Given the description of an element on the screen output the (x, y) to click on. 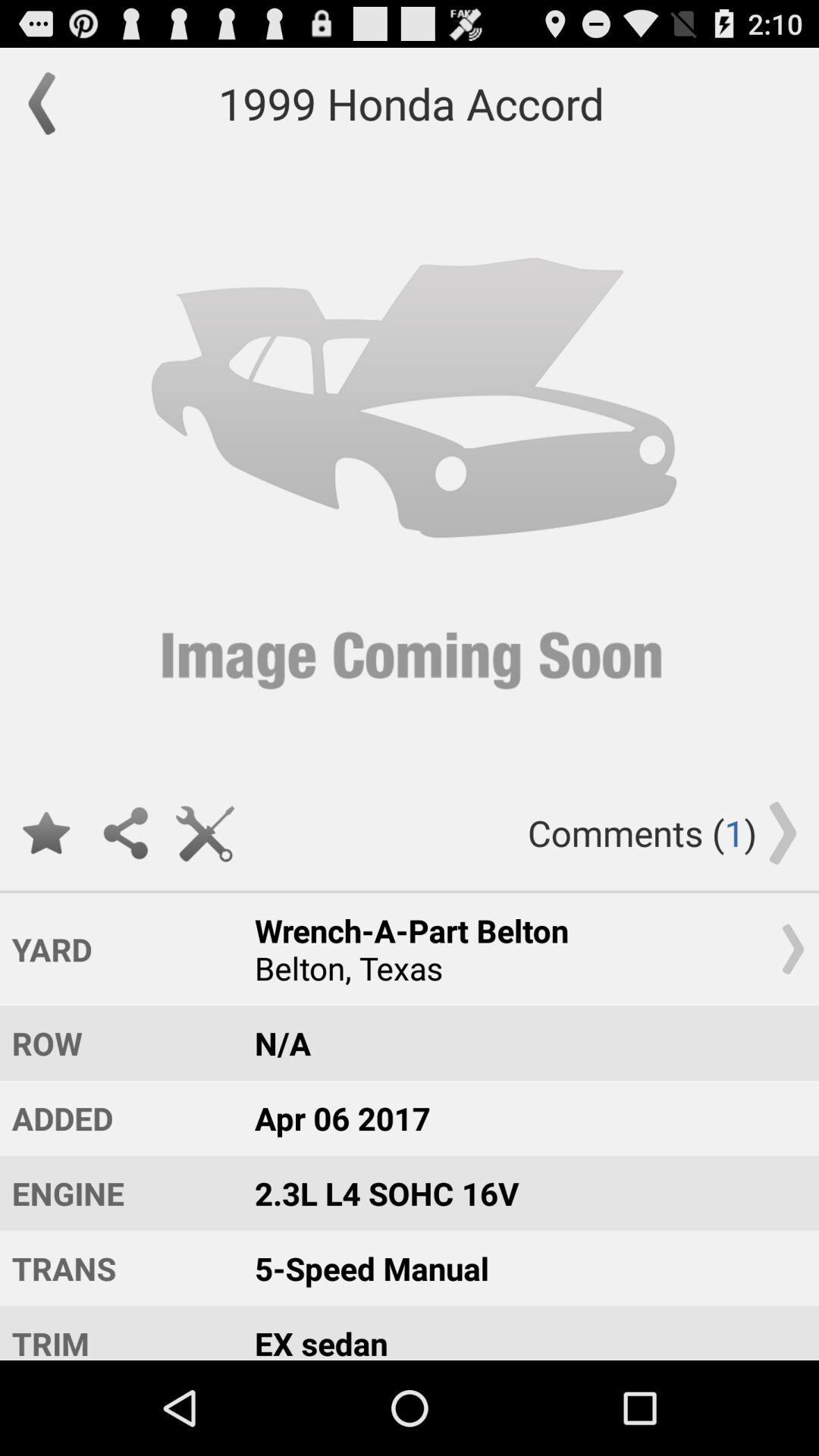
click the icon to the right of the row icon (522, 1117)
